Given the description of an element on the screen output the (x, y) to click on. 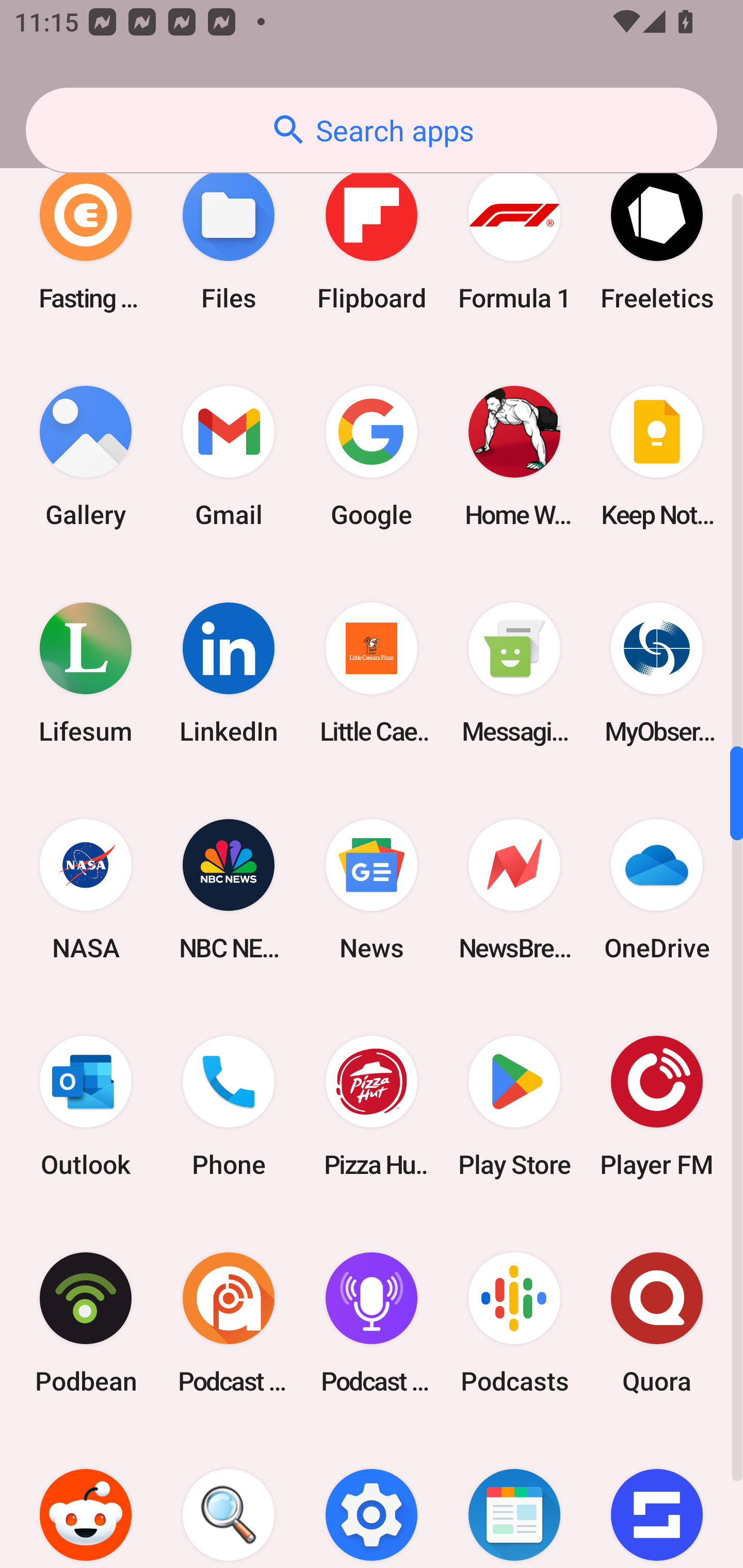
  Search apps (371, 130)
Fasting Coach (85, 239)
Files (228, 239)
Flipboard (371, 239)
Formula 1 (514, 239)
Freeletics (656, 239)
Gallery (85, 456)
Gmail (228, 456)
Google (371, 456)
Home Workout (514, 456)
Keep Notes (656, 456)
Lifesum (85, 672)
LinkedIn (228, 672)
Little Caesars Pizza (371, 672)
Messaging (514, 672)
MyObservatory (656, 672)
NASA (85, 889)
NBC NEWS (228, 889)
News (371, 889)
NewsBreak (514, 889)
OneDrive (656, 889)
Outlook (85, 1106)
Phone (228, 1106)
Pizza Hut HK & Macau (371, 1106)
Play Store (514, 1106)
Player FM (656, 1106)
Podbean (85, 1323)
Podcast Addict (228, 1323)
Podcast Player (371, 1323)
Podcasts (514, 1323)
Quora (656, 1323)
Reddit (85, 1499)
Search (228, 1499)
Settings (371, 1499)
SmartNews (514, 1499)
Sofascore (656, 1499)
